Given the description of an element on the screen output the (x, y) to click on. 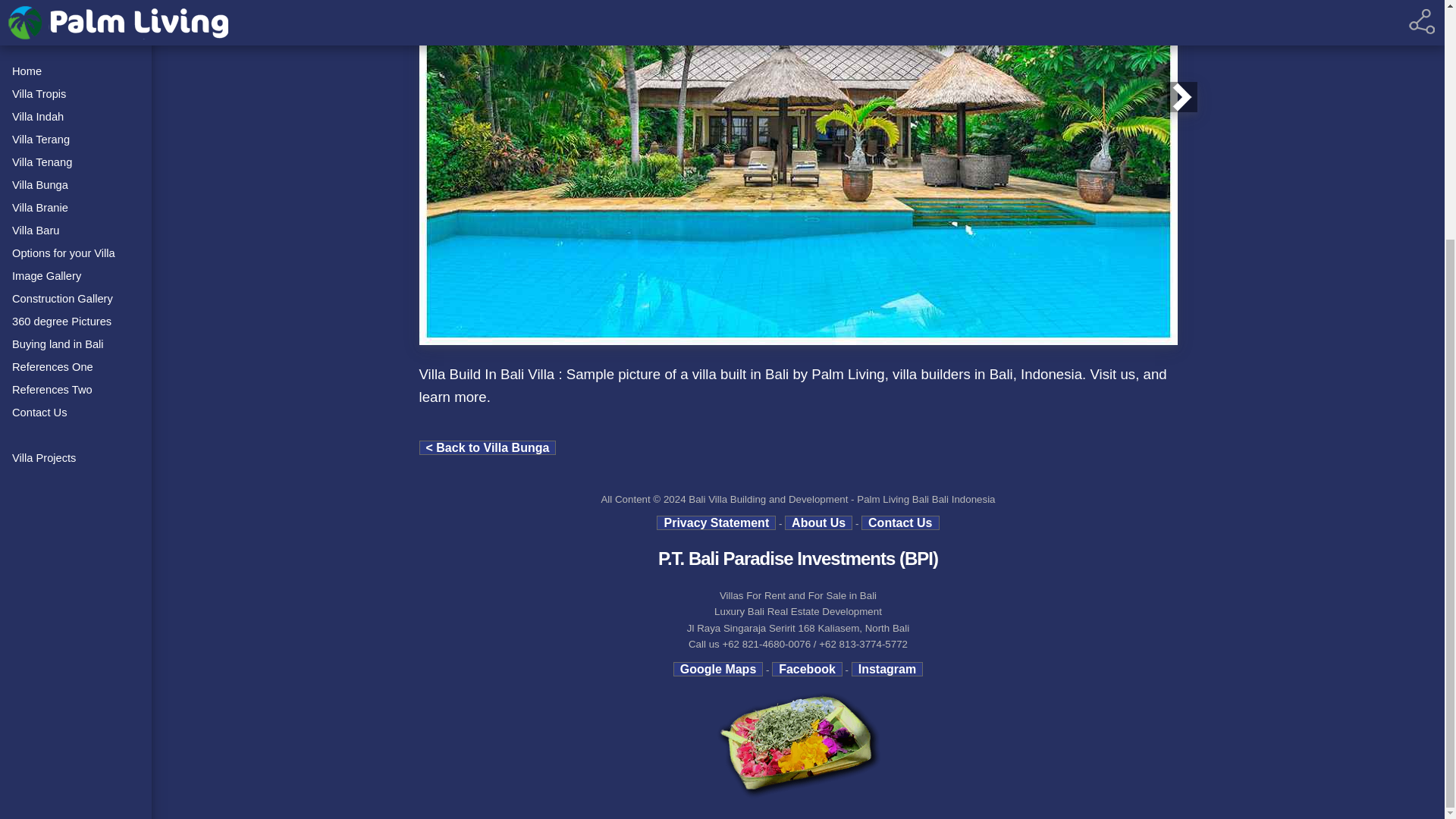
Instagram (887, 668)
360 degree Pictures (76, 2)
Privacy Statement (716, 522)
Contact Us (76, 82)
Contact Us (900, 522)
Villa Projects (76, 127)
Google Maps (717, 668)
NEXT (1181, 96)
References Two (76, 59)
References One (76, 36)
About Us (817, 522)
Buying land in Bali (76, 14)
Facebook (807, 668)
